Given the description of an element on the screen output the (x, y) to click on. 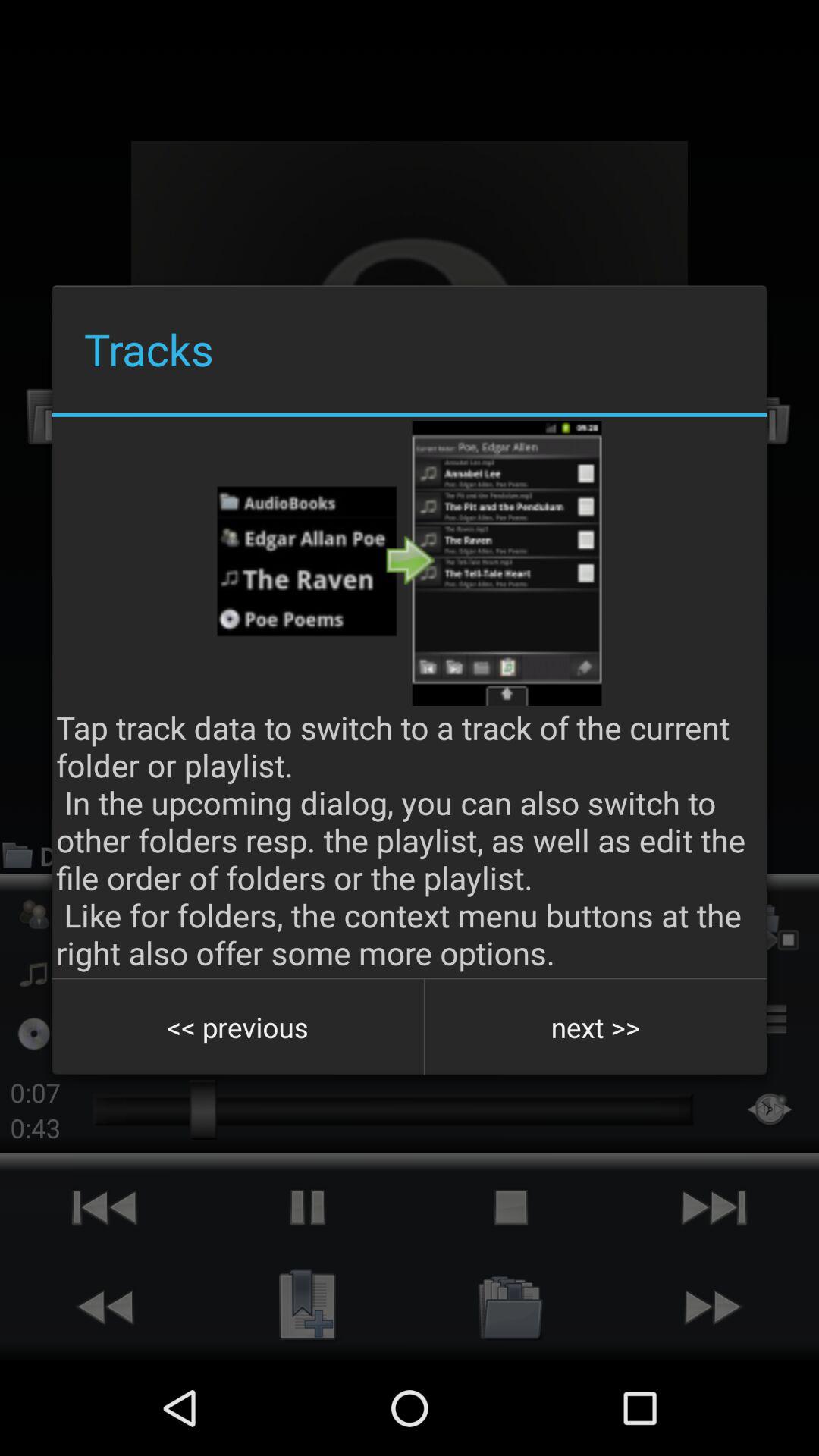
choose item next to the next >> (237, 1026)
